Given the description of an element on the screen output the (x, y) to click on. 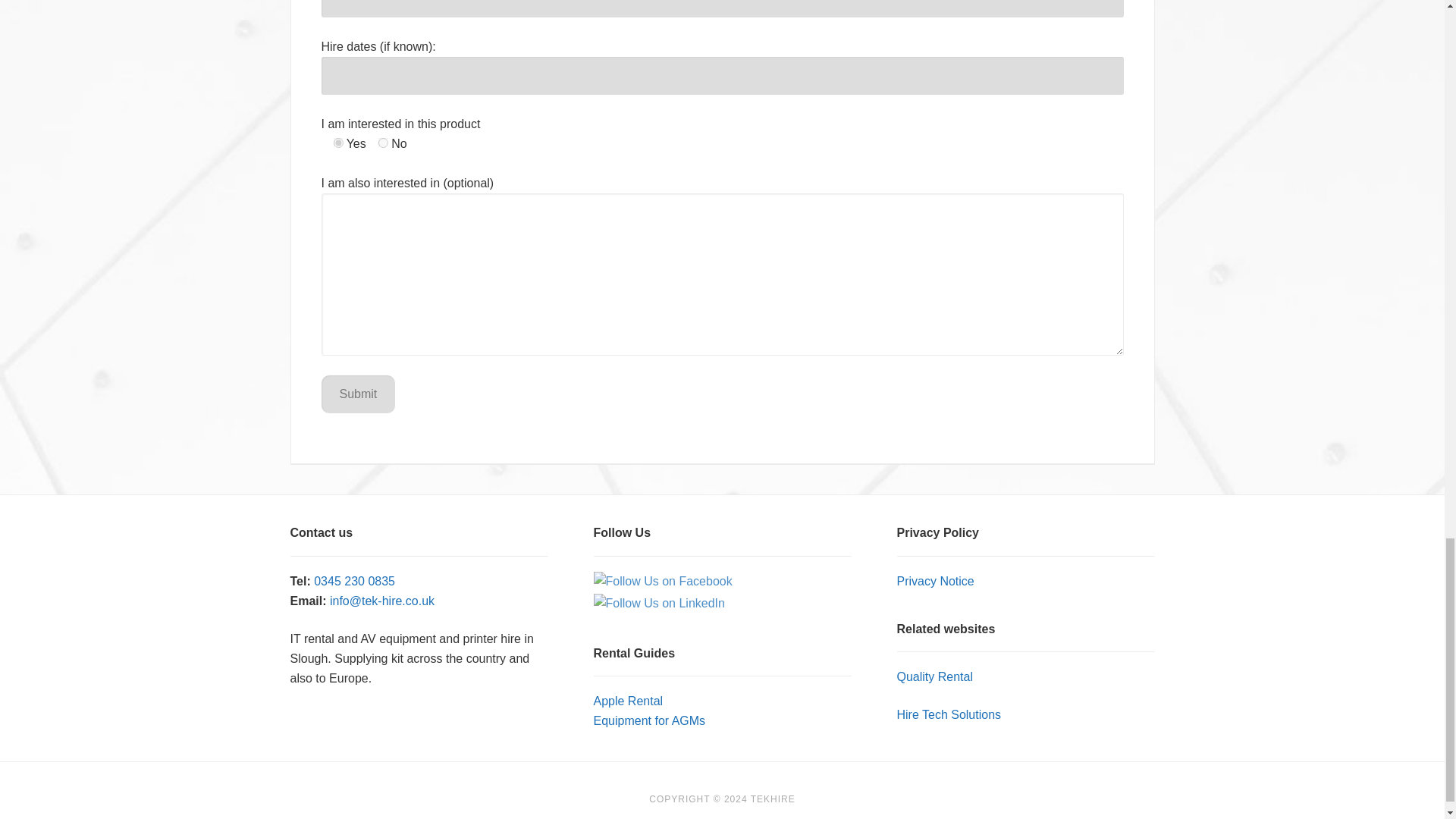
No (383, 143)
Submit (358, 394)
0345 230 0835 (354, 581)
Apple Rental (627, 700)
Follow Us on Facebook (662, 581)
Follow Us on LinkedIn (657, 603)
Equipment for AGMs (648, 720)
Yes (338, 143)
Quality Rental (934, 676)
Submit (358, 394)
Privacy Notice (935, 581)
